Given the description of an element on the screen output the (x, y) to click on. 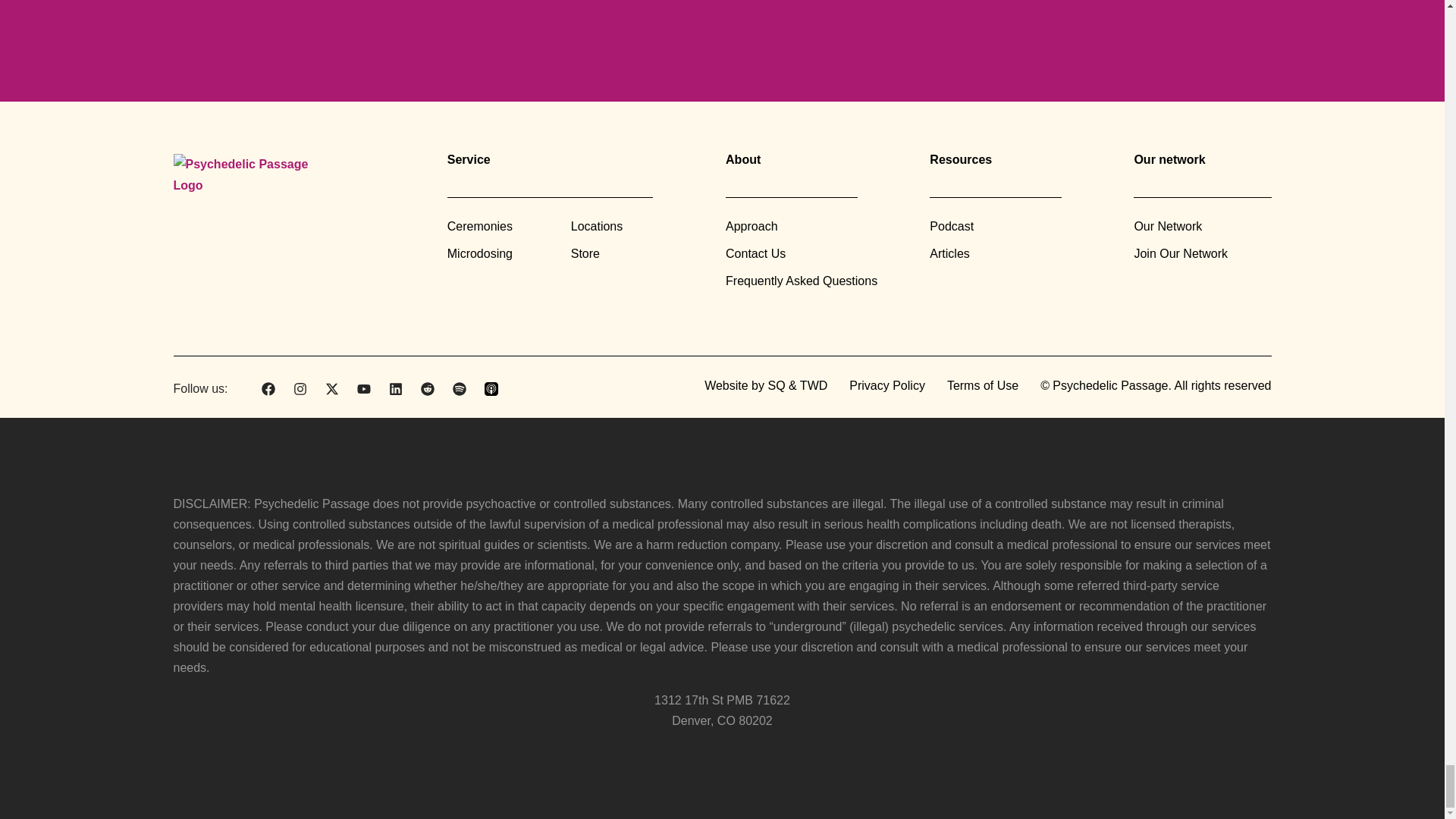
Psychedelic Passage Logo (253, 177)
